Given the description of an element on the screen output the (x, y) to click on. 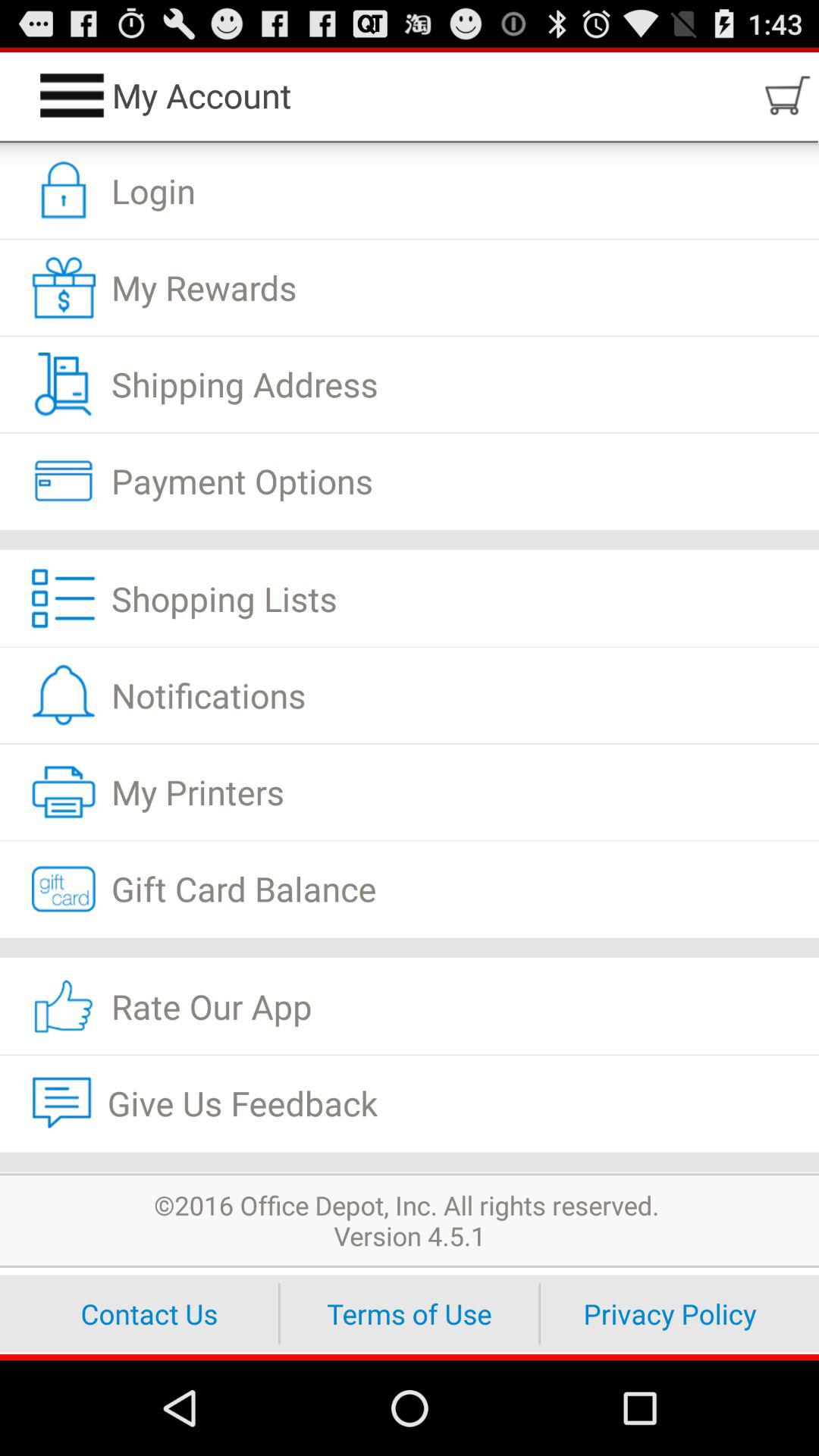
turn off app below the my printers app (409, 888)
